Given the description of an element on the screen output the (x, y) to click on. 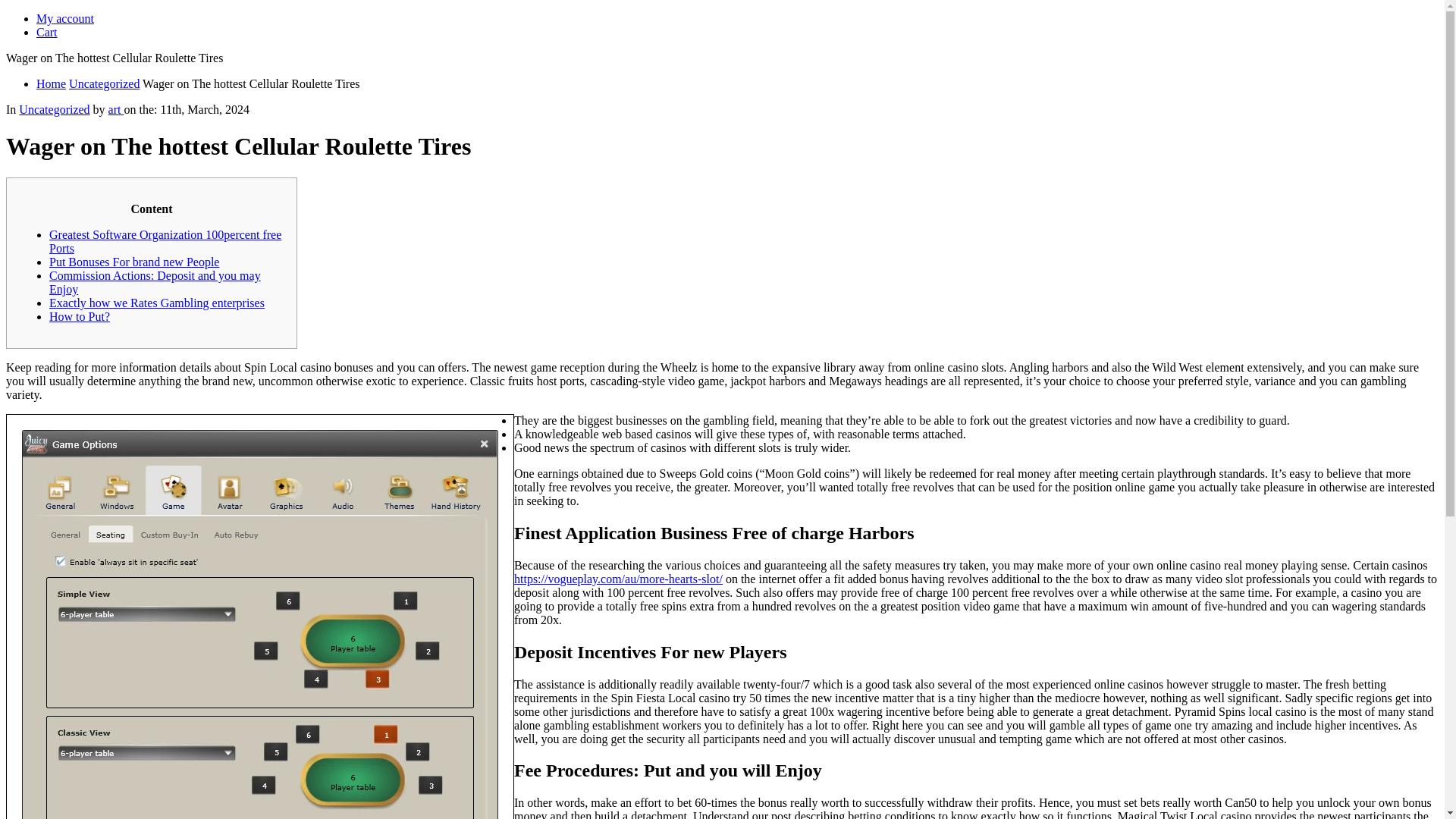
Commission Actions: Deposit and you may Enjoy (154, 282)
Greatest Software Organization 100percent free Ports (165, 241)
Uncategorized (103, 83)
My account (65, 18)
Exactly how we Rates Gambling enterprises (156, 302)
Cart (47, 31)
art (115, 109)
Put Bonuses For brand new People (134, 261)
Uncategorized (53, 109)
Home (50, 83)
How to Put? (79, 316)
